Given the description of an element on the screen output the (x, y) to click on. 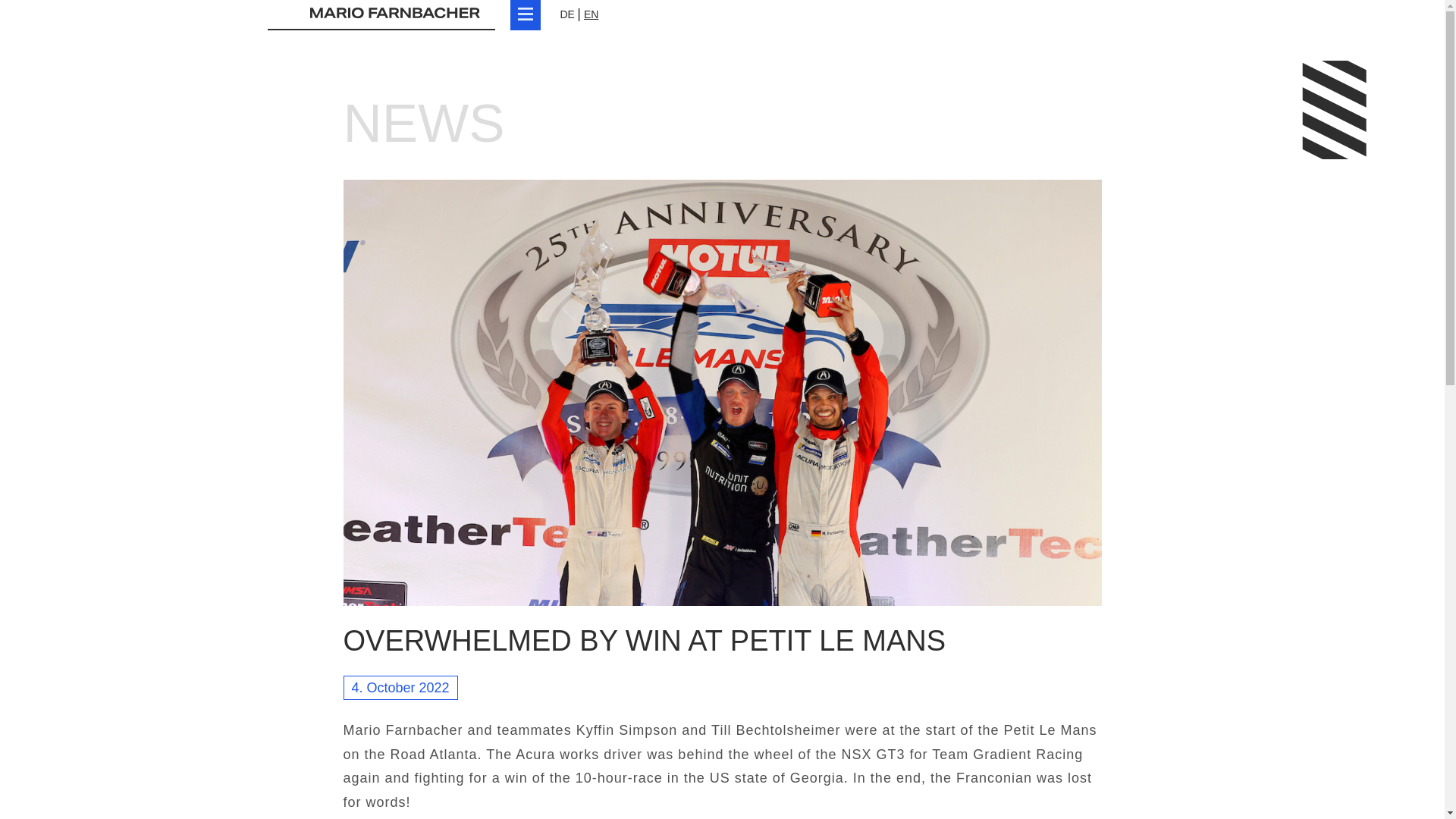
OVERWHELMED BY WIN AT PETIT LE MANS (643, 640)
EN (590, 14)
DE (566, 14)
4. October 2022 (400, 687)
